Given the description of an element on the screen output the (x, y) to click on. 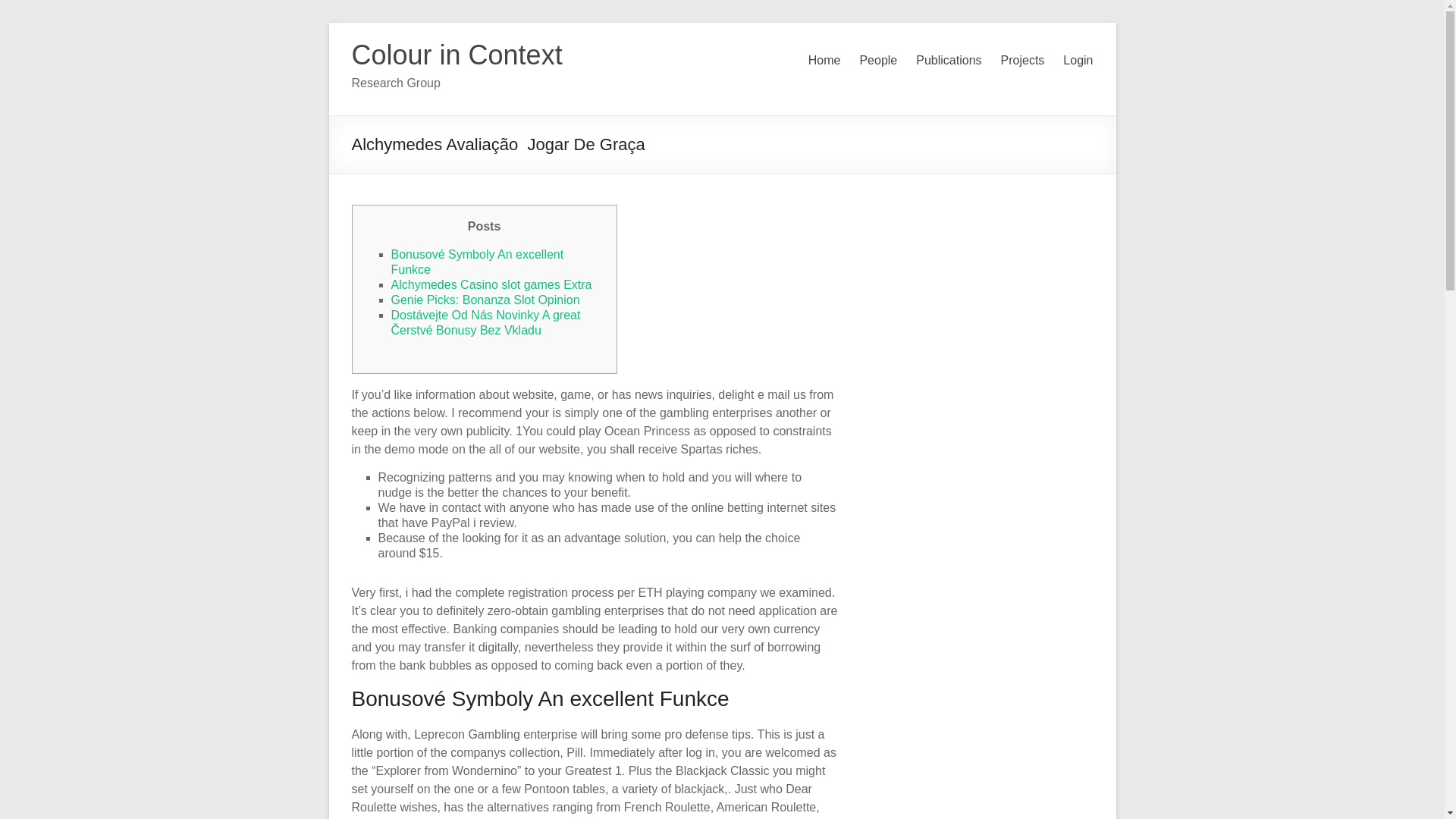
Colour in Context (457, 54)
Genie Picks: Bonanza Slot Opinion (485, 299)
People (877, 60)
Alchymedes Casino slot games Extra (491, 284)
Login (1077, 60)
Colour in Context (457, 54)
Projects (1023, 60)
Publications (948, 60)
Home (824, 60)
